Given the description of an element on the screen output the (x, y) to click on. 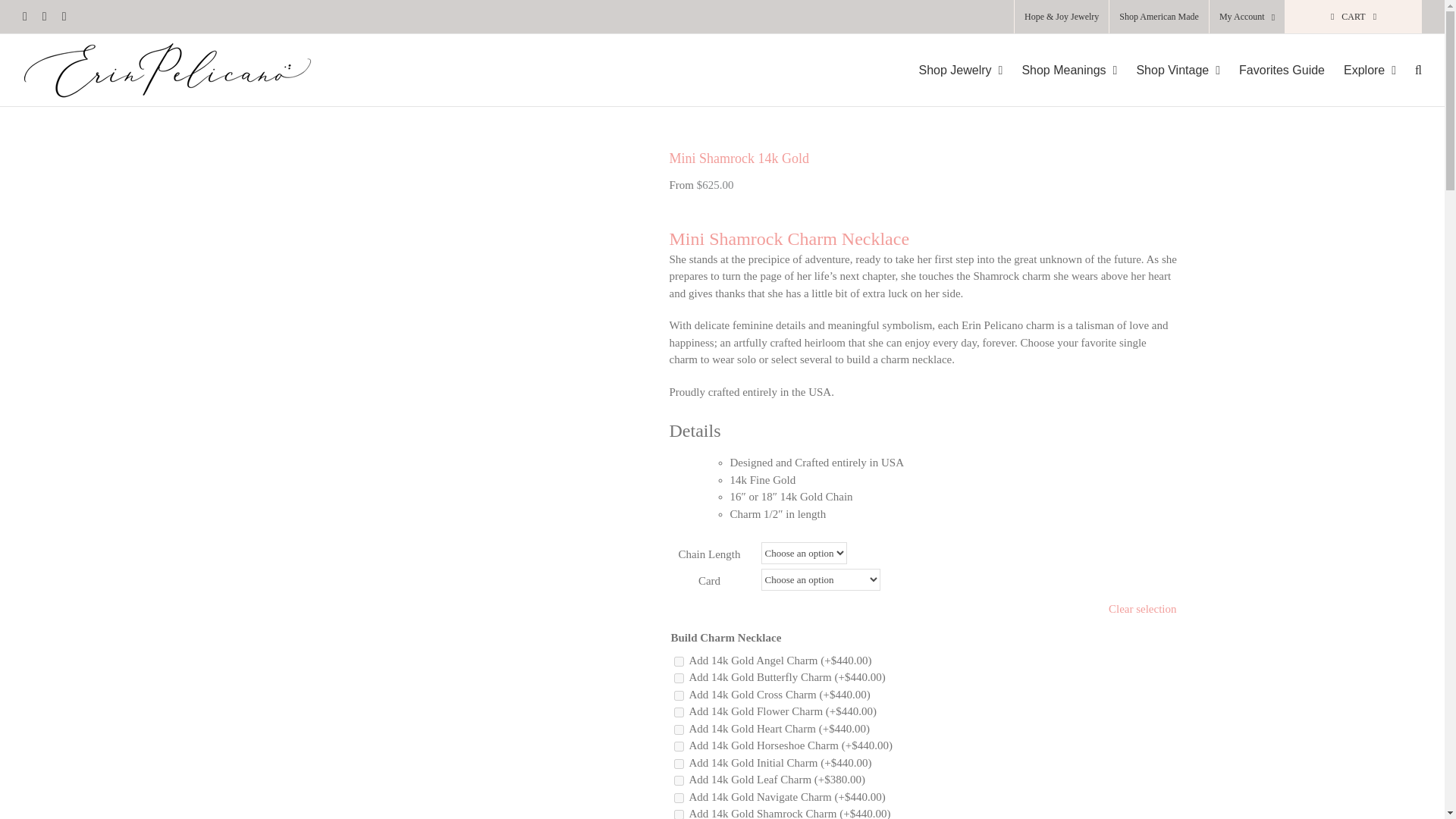
Shop Meanings (1069, 70)
add-14k-gold-initial-charm (677, 764)
add-14k-gold-navigate-charm (677, 798)
add-14k-gold-horseshoe-charm (677, 746)
CART (1353, 16)
My Account (1246, 16)
add-14k-gold-angel-charm (677, 661)
Shop American Made (1158, 16)
add-14k-gold-shamrock-charm (677, 814)
add-14k-gold-butterfly-charm (677, 678)
add-14k-gold-leaf-charm (677, 780)
Log In (1299, 145)
add-14k-gold-cross-charm (677, 696)
add-14k-gold-heart-charm (677, 729)
Shop Jewelry (960, 70)
